Given the description of an element on the screen output the (x, y) to click on. 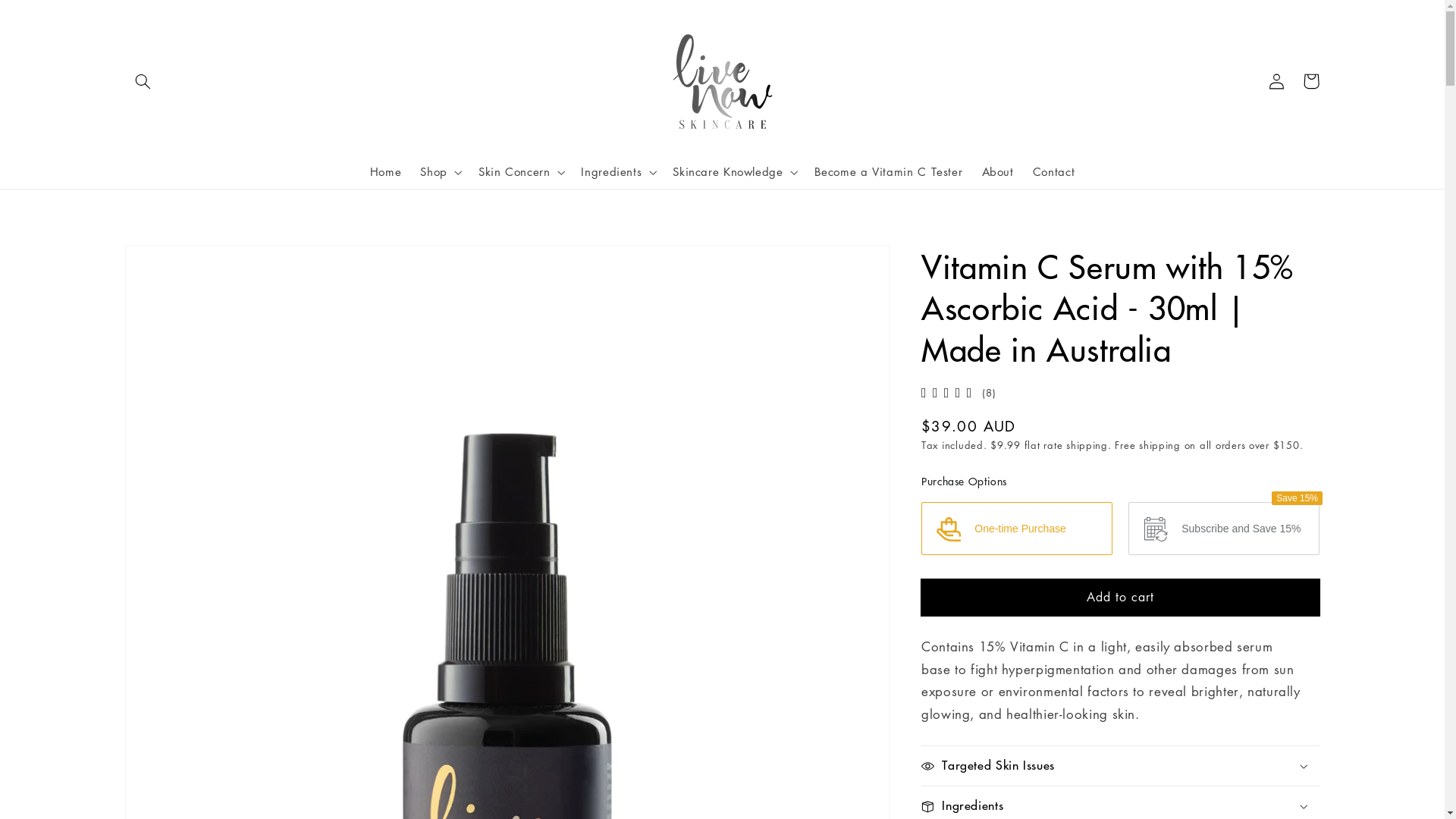
About Element type: text (997, 171)
Cart Element type: text (1310, 80)
One-time Purchase Element type: text (1016, 528)
Become a Vitamin C Tester Element type: text (888, 171)
Add to cart Element type: text (1120, 597)
Home Element type: text (385, 171)
Log in Element type: text (1275, 80)
Skip to product information Element type: text (171, 261)
Save 15%
Subscribe and Save 15% Element type: text (1223, 528)
Contact Element type: text (1053, 171)
